Given the description of an element on the screen output the (x, y) to click on. 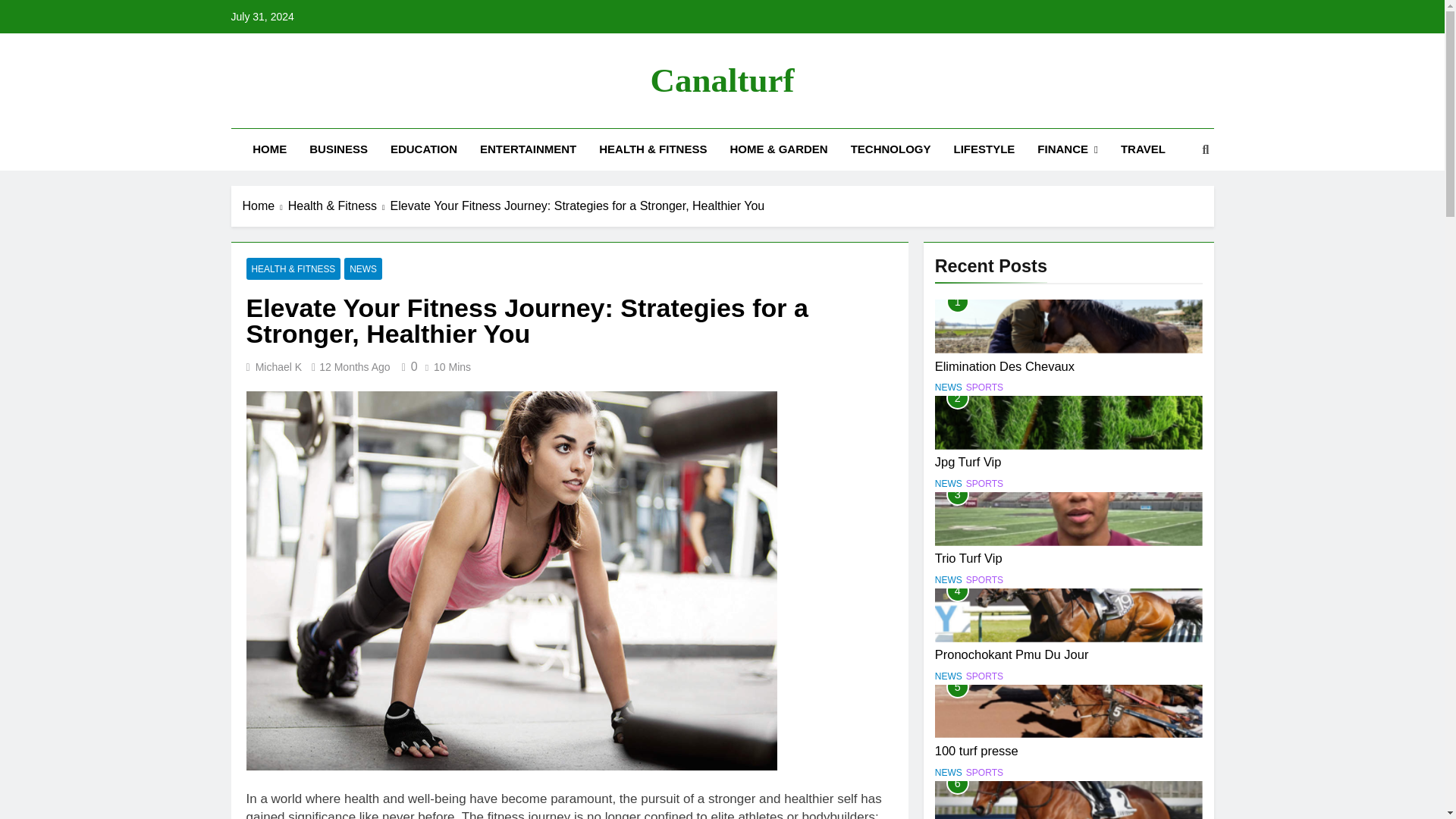
ENTERTAINMENT (528, 148)
Home (265, 206)
TRAVEL (1142, 148)
Canalturf (722, 80)
LIFESTYLE (984, 148)
HOME (269, 148)
EDUCATION (423, 148)
FINANCE (1067, 149)
TECHNOLOGY (891, 148)
BUSINESS (338, 148)
